Given the description of an element on the screen output the (x, y) to click on. 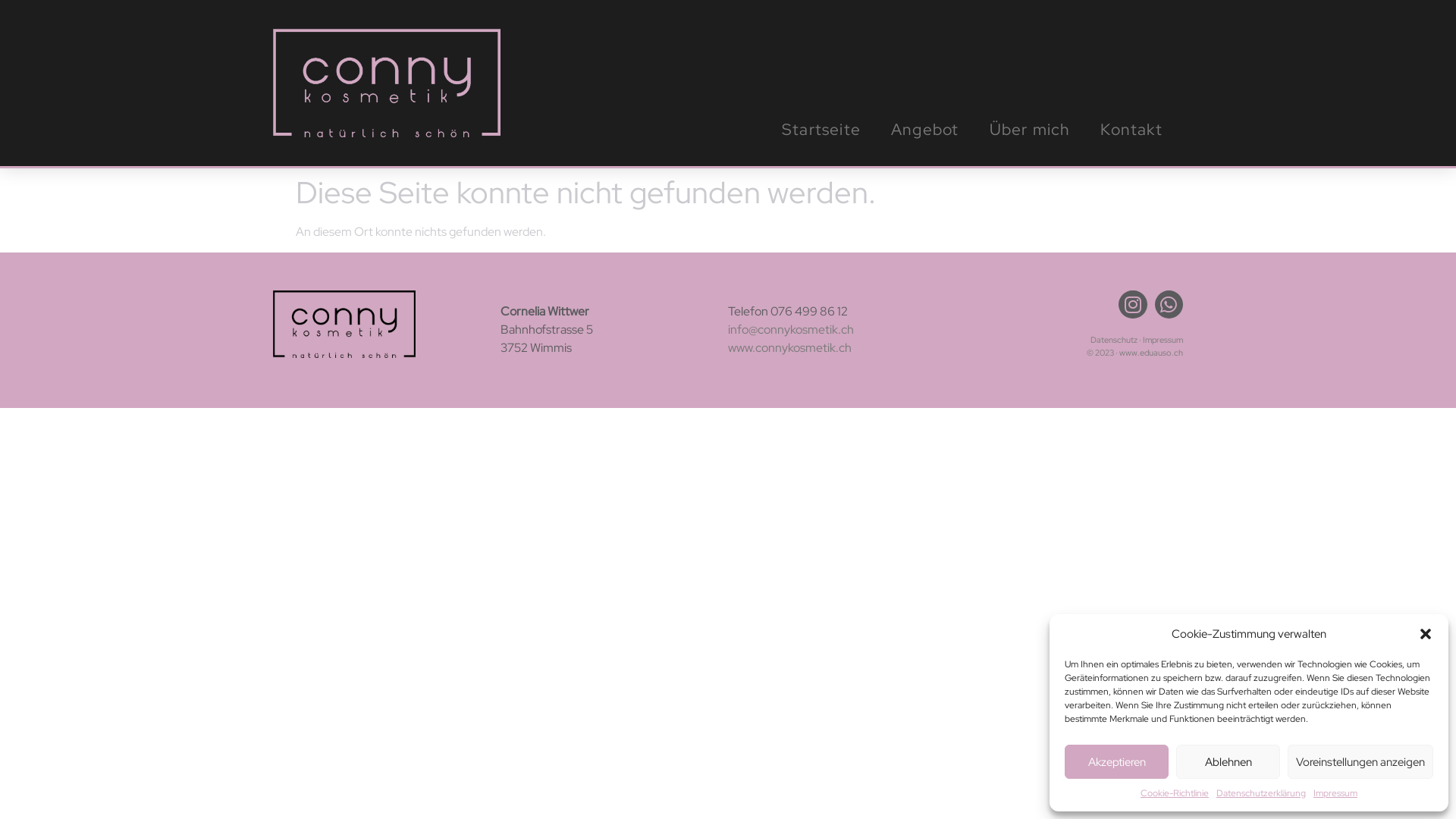
Voreinstellungen anzeigen Element type: text (1360, 761)
Angebot Element type: text (924, 129)
info@connykosmetik.ch Element type: text (790, 329)
Impressum Element type: text (1162, 339)
Ablehnen Element type: text (1228, 761)
Kontakt Element type: text (1130, 129)
Impressum Element type: text (1335, 793)
Cookie-Richtlinie Element type: text (1174, 793)
www.eduauso.ch Element type: text (1151, 352)
Startseite Element type: text (820, 129)
www.connykosmetik.ch Element type: text (789, 347)
Akzeptieren Element type: text (1116, 761)
Datenschutz Element type: text (1113, 339)
